Given the description of an element on the screen output the (x, y) to click on. 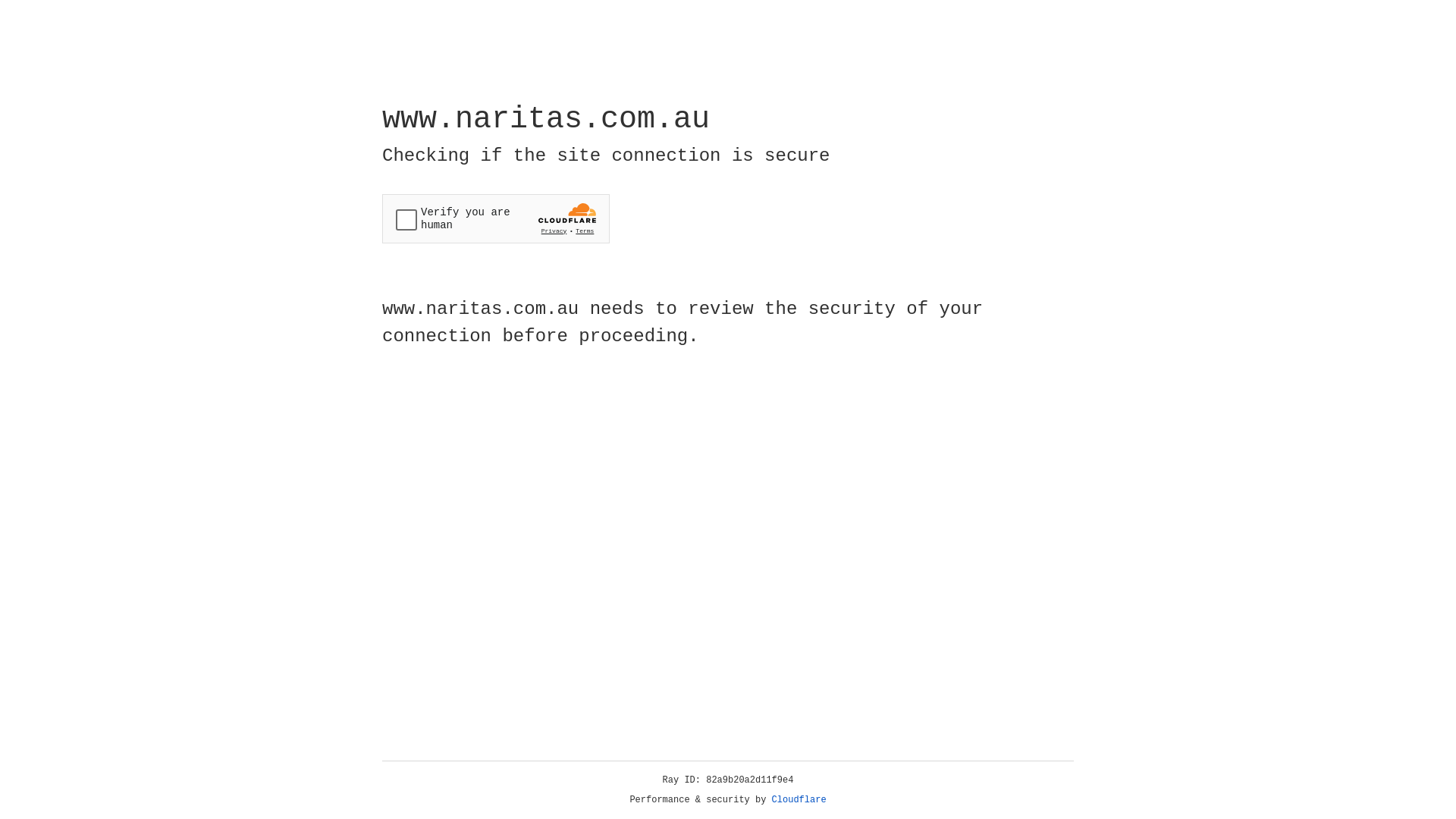
Cloudflare Element type: text (798, 799)
Widget containing a Cloudflare security challenge Element type: hover (495, 218)
